Given the description of an element on the screen output the (x, y) to click on. 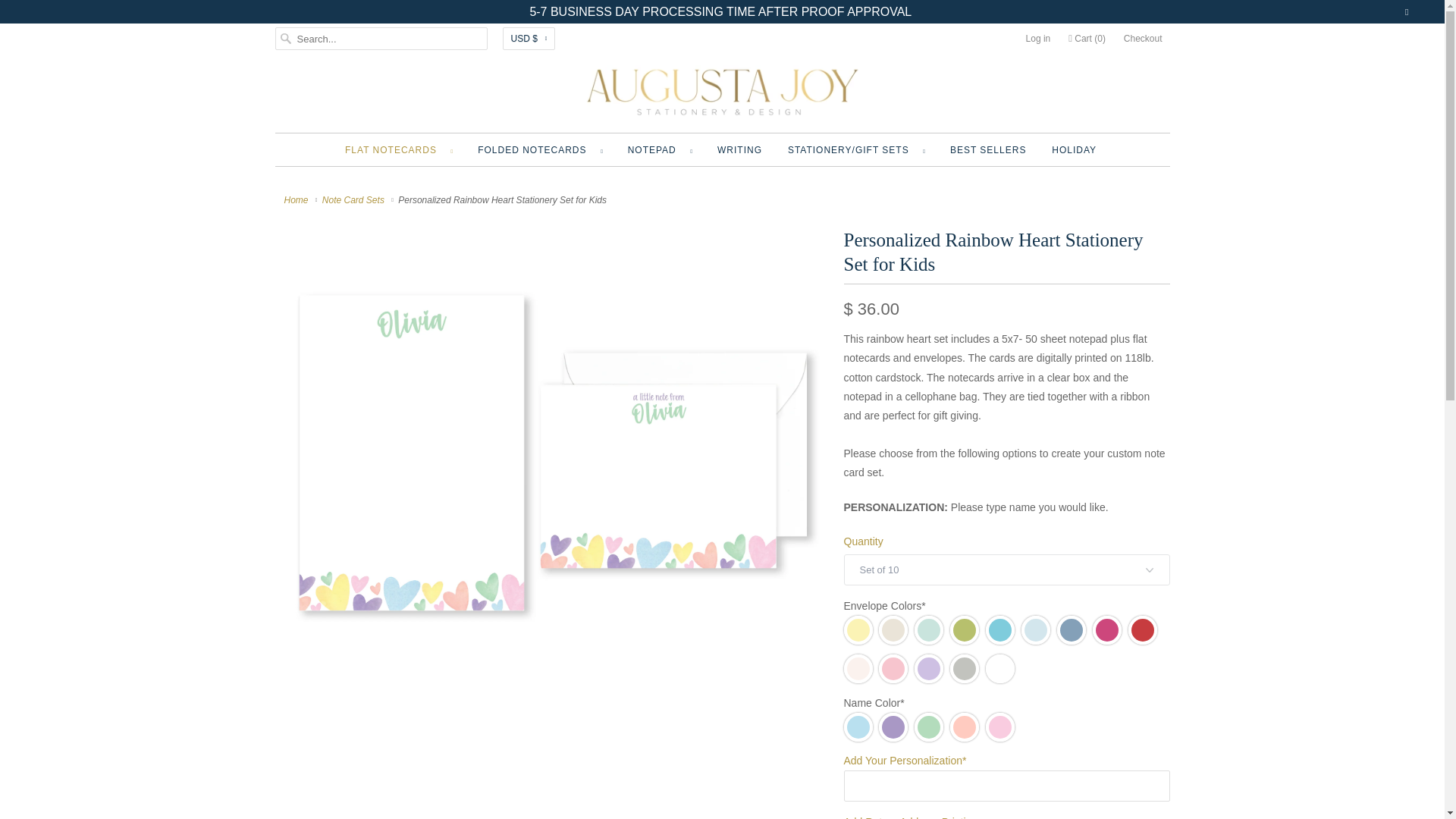
Augusta Joy (296, 199)
Augusta Joy (722, 91)
5-7 BUSINESS DAY PROCESSING TIME AFTER PROOF APPROVAL (720, 11)
Note Card Sets (354, 199)
